Given the description of an element on the screen output the (x, y) to click on. 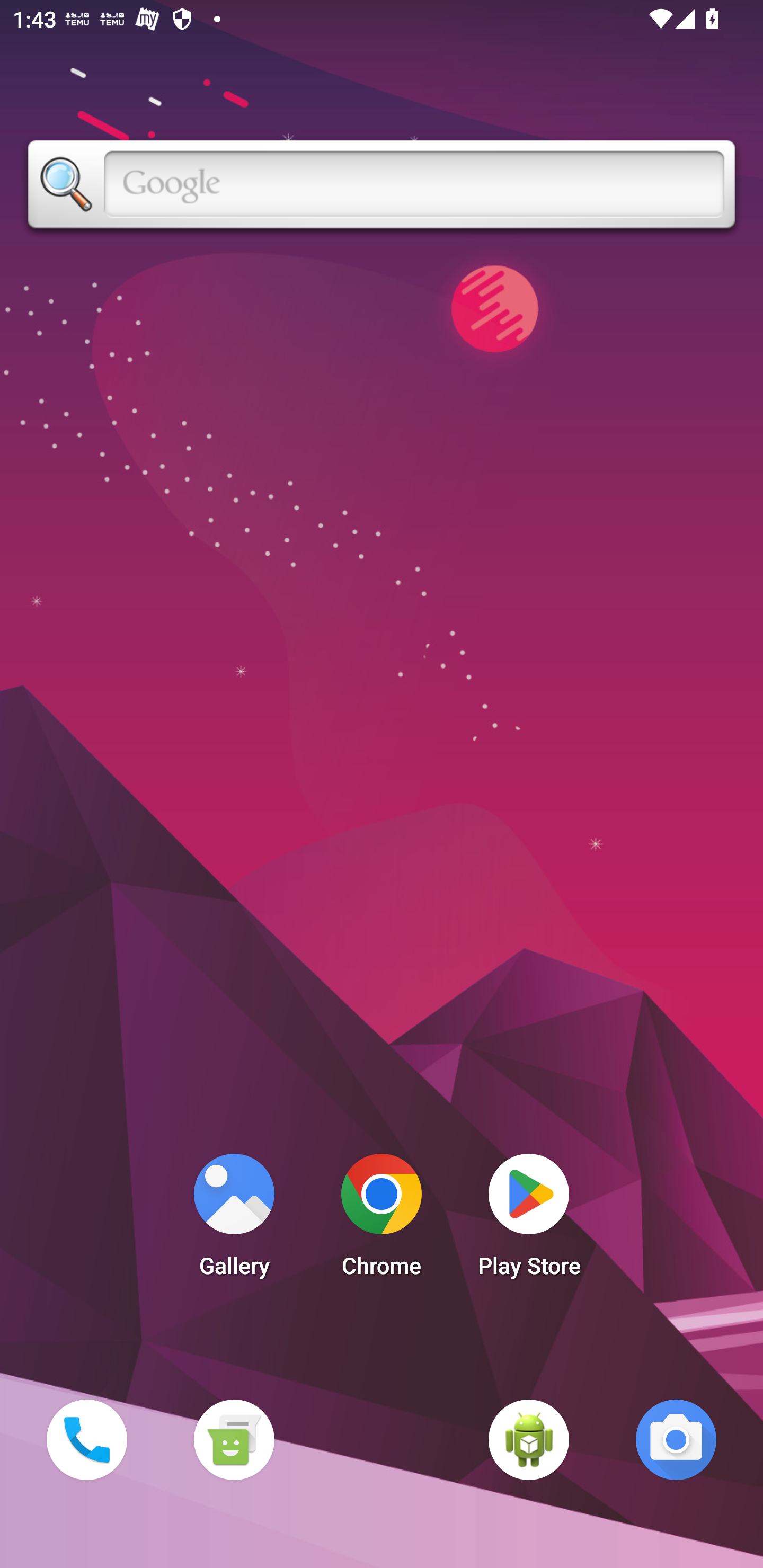
Gallery (233, 1220)
Chrome (381, 1220)
Play Store (528, 1220)
Phone (86, 1439)
Messaging (233, 1439)
WebView Browser Tester (528, 1439)
Camera (676, 1439)
